Given the description of an element on the screen output the (x, y) to click on. 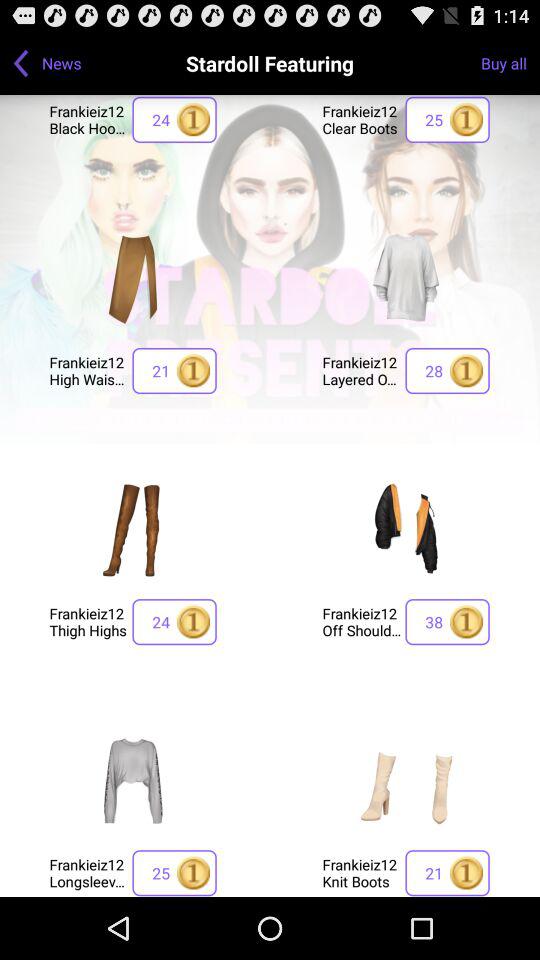
click the button to the right of 24 (361, 621)
